Given the description of an element on the screen output the (x, y) to click on. 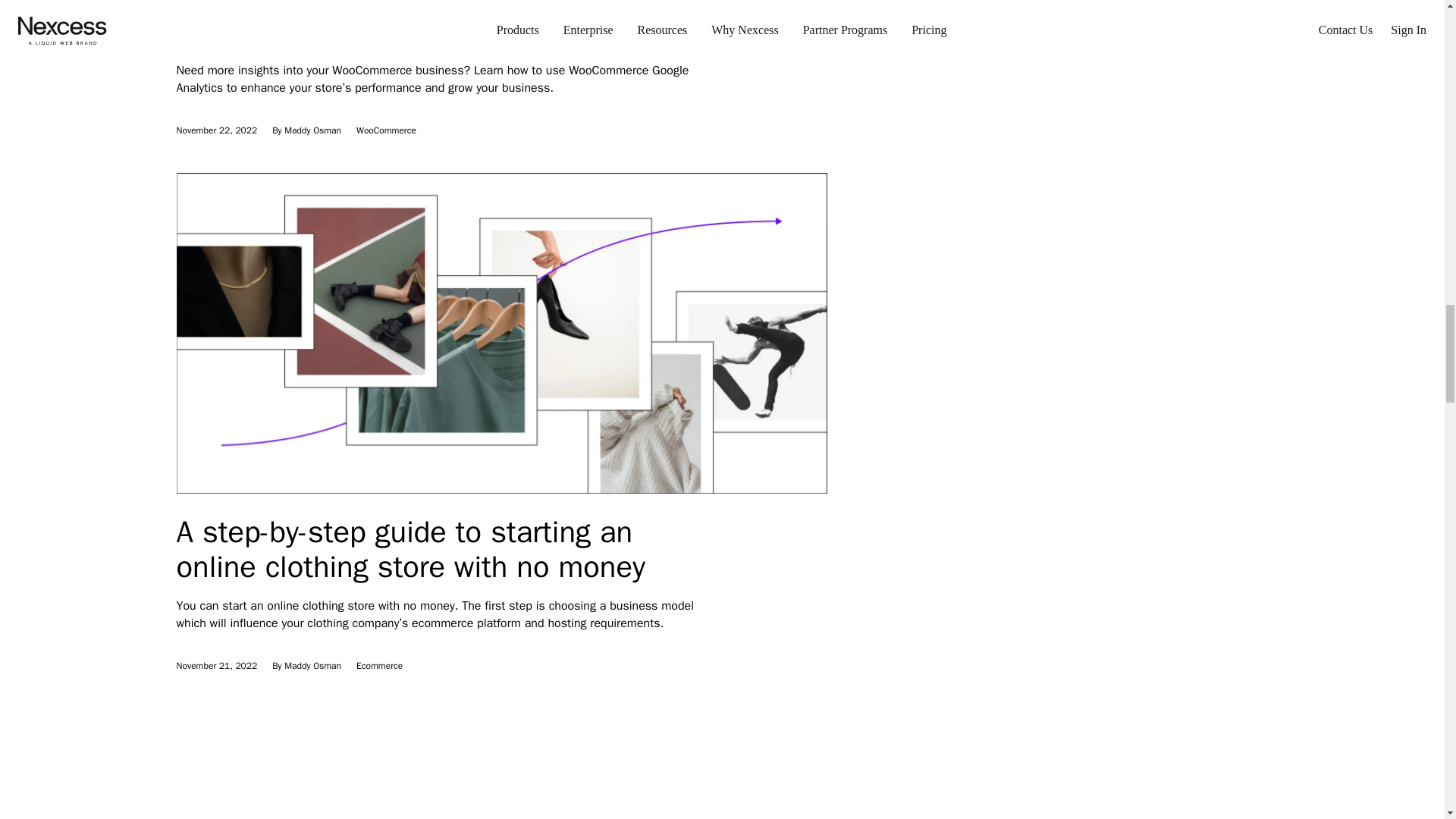
Ecommerce (379, 665)
WooCommerce (386, 130)
Maddy Osman (311, 665)
Maddy Osman (311, 130)
